Given the description of an element on the screen output the (x, y) to click on. 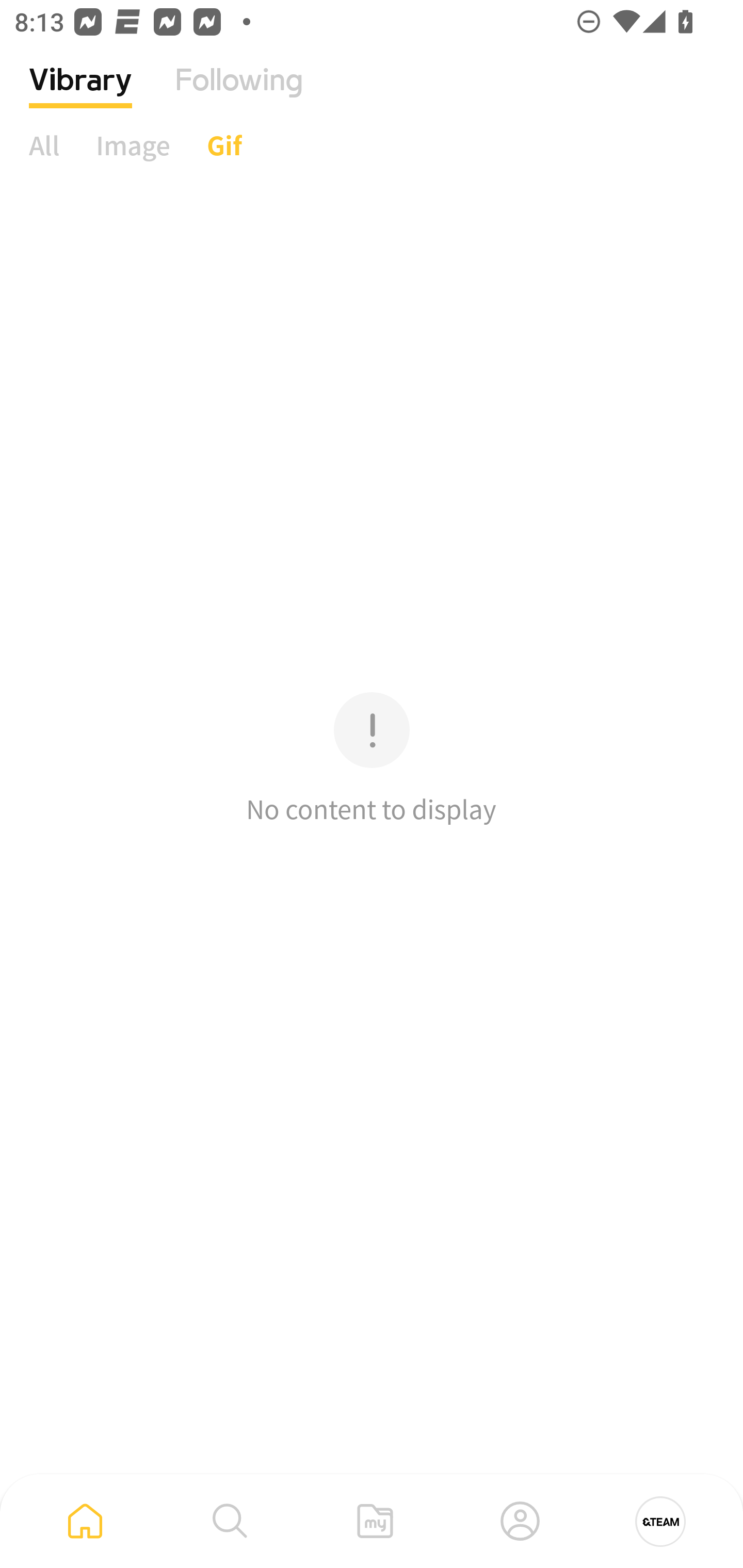
Vibrary (80, 95)
Following (239, 95)
All (44, 145)
Image (132, 145)
Gif (224, 145)
